Given the description of an element on the screen output the (x, y) to click on. 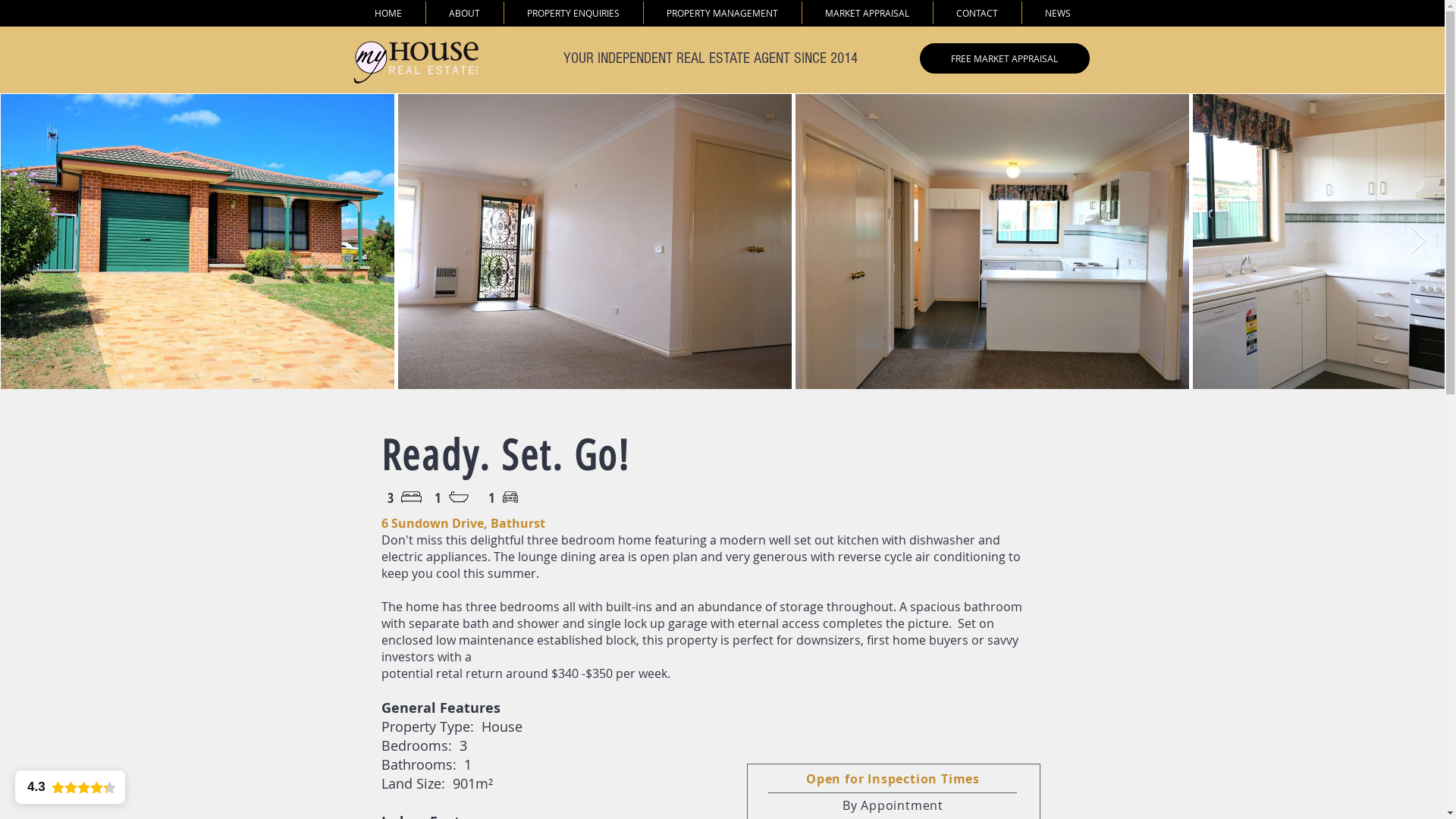
HOME Element type: text (387, 12)
PROPERTY ENQUIRIES Element type: text (572, 12)
ABOUT Element type: text (464, 12)
NEWS Element type: text (1058, 12)
FREE MARKET APPRAISAL Element type: text (1003, 58)
PROPERTY MANAGEMENT Element type: text (721, 12)
CONTACT Element type: text (976, 12)
MARKET APPRAISAL Element type: text (867, 12)
